Given the description of an element on the screen output the (x, y) to click on. 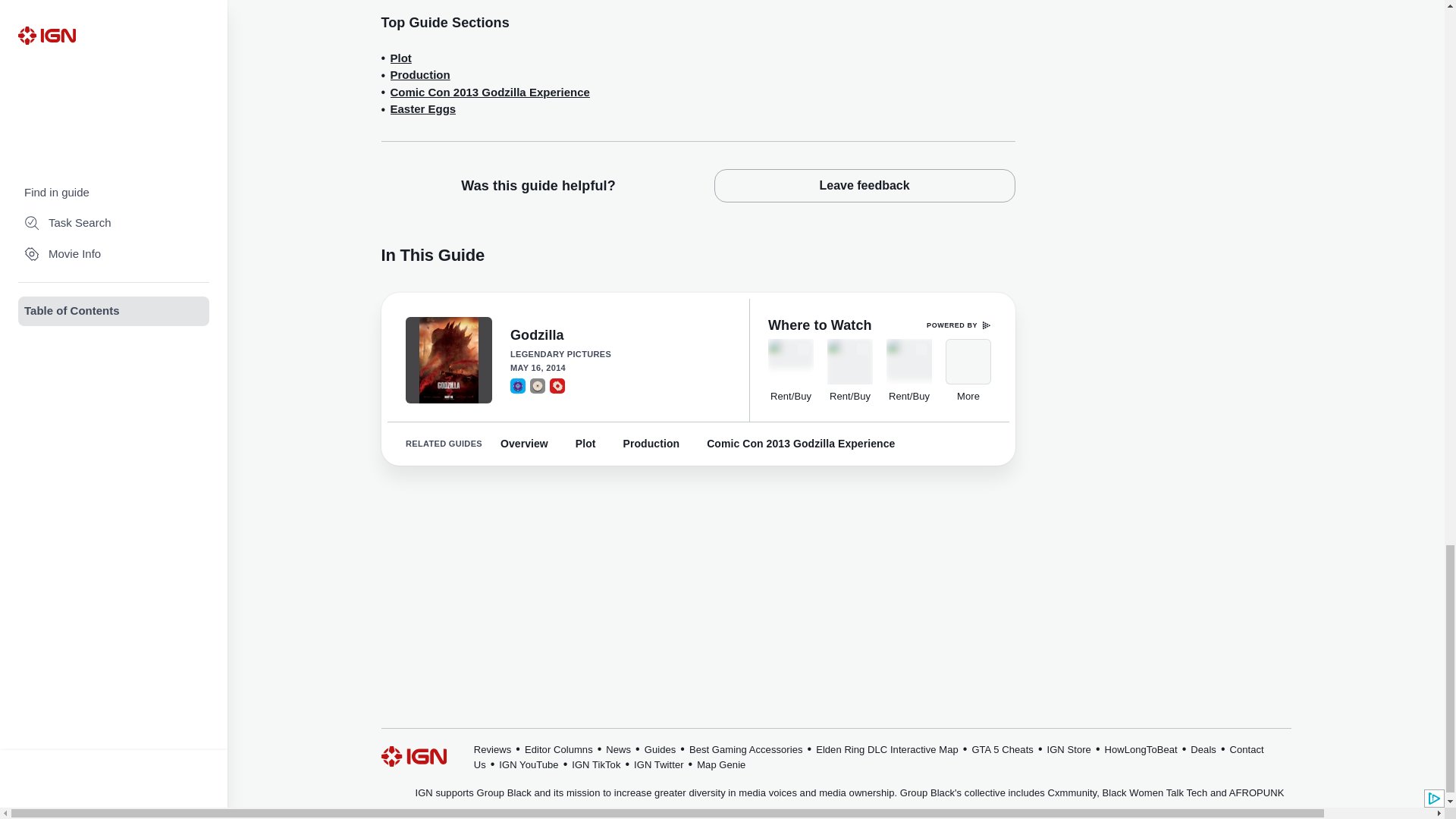
POWERED BY (958, 325)
Blu-ray (516, 385)
DVD (536, 385)
Producers (619, 354)
Comic Con 2013 Godzilla Experience (489, 92)
Theater (556, 385)
Easter Eggs (422, 108)
Theater (556, 385)
Plot (400, 58)
Blu-ray (516, 385)
LEGENDARY PICTURES (619, 354)
Production (419, 75)
Godzilla (619, 335)
DVD (536, 385)
Blu-ray (516, 385)
